Given the description of an element on the screen output the (x, y) to click on. 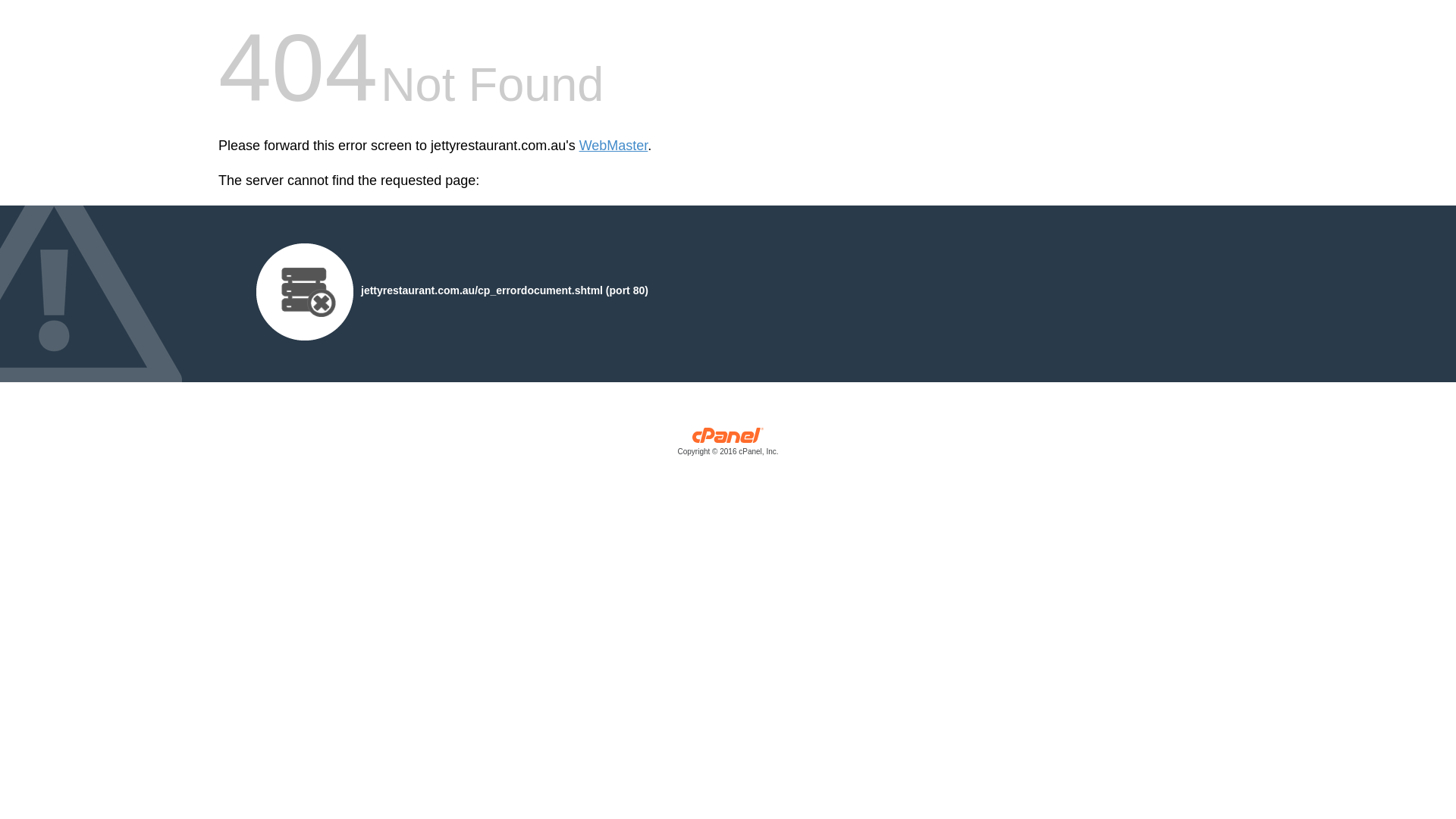
WebMaster Element type: text (613, 145)
